Given the description of an element on the screen output the (x, y) to click on. 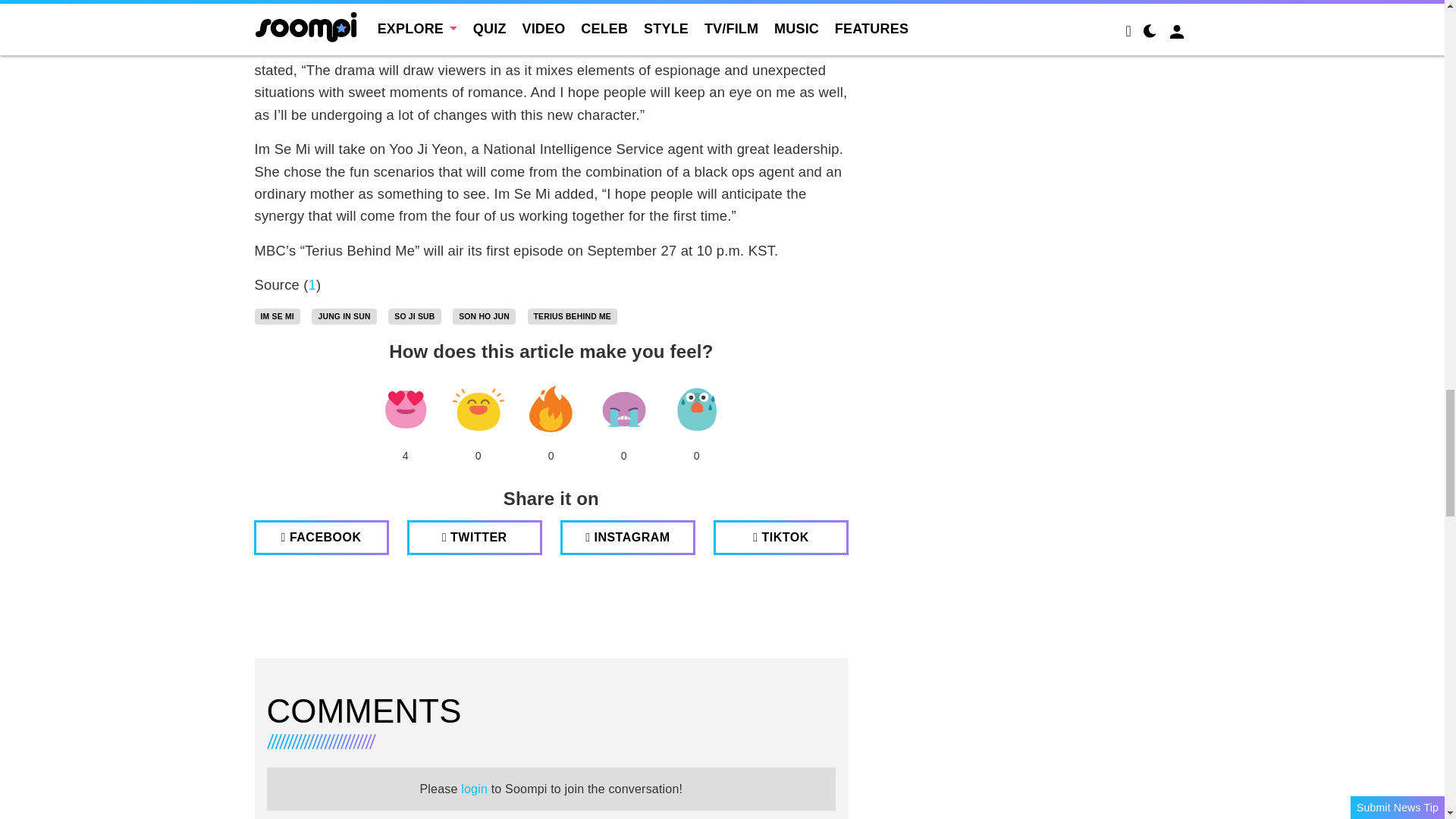
IM SE MI (276, 316)
OMG (696, 409)
Heart (405, 409)
Jung In Sun (343, 316)
SON HO JUN (483, 316)
Crying (623, 409)
TERIUS BEHIND ME (572, 316)
1 (311, 284)
Terius Behind Me (572, 316)
heart (405, 409)
JUNG IN SUN (343, 316)
Son Ho Jun (483, 316)
SO JI SUB (414, 316)
Fire (550, 409)
Im Se Mi (276, 316)
